Given the description of an element on the screen output the (x, y) to click on. 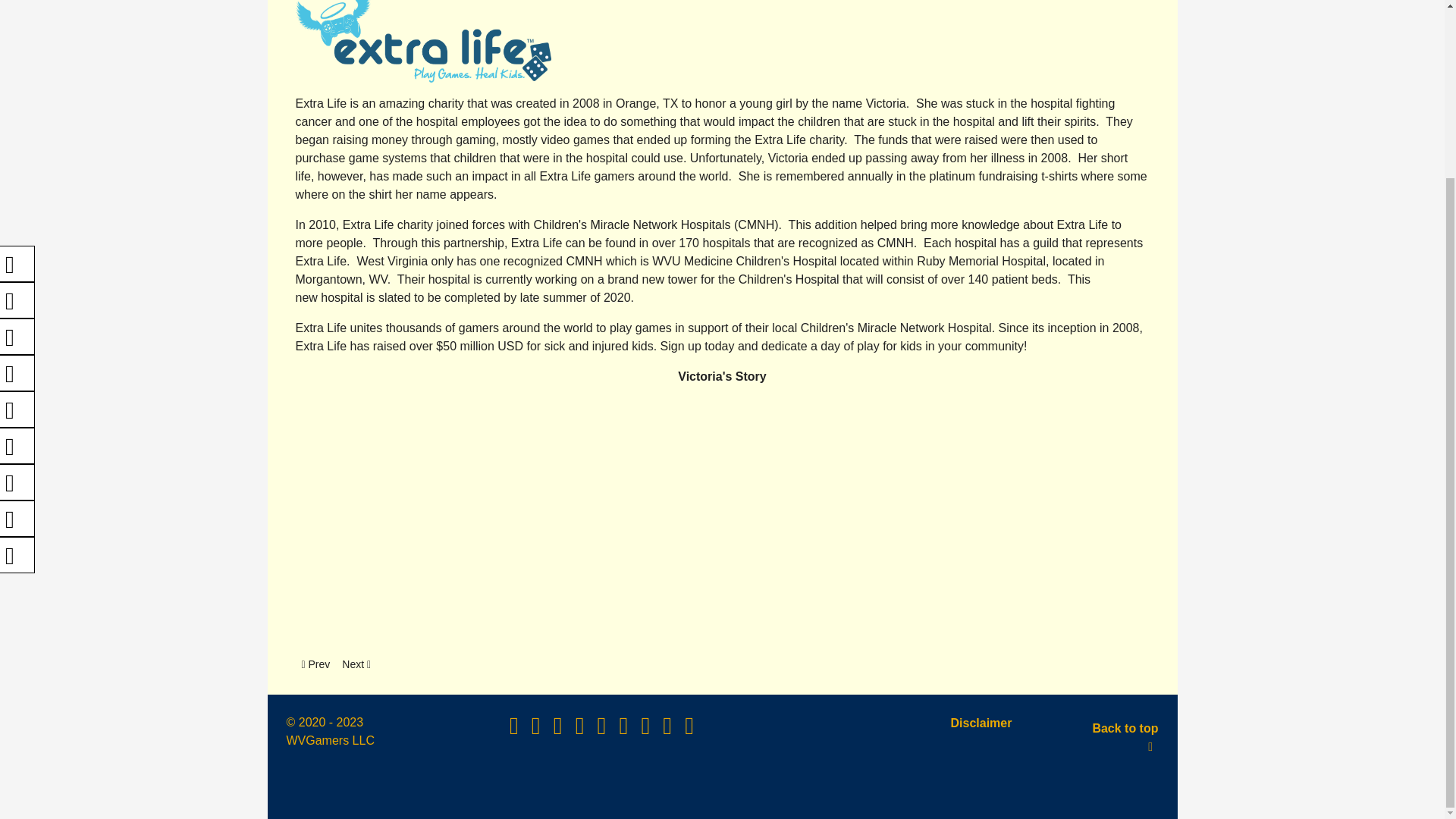
BGG (603, 729)
RSS Feed (17, 337)
Instagram (17, 155)
TikTok (647, 729)
Twitch (315, 664)
RSS Feed (17, 227)
Twitter (688, 729)
Youtube (536, 729)
Twitch (559, 729)
